Given the description of an element on the screen output the (x, y) to click on. 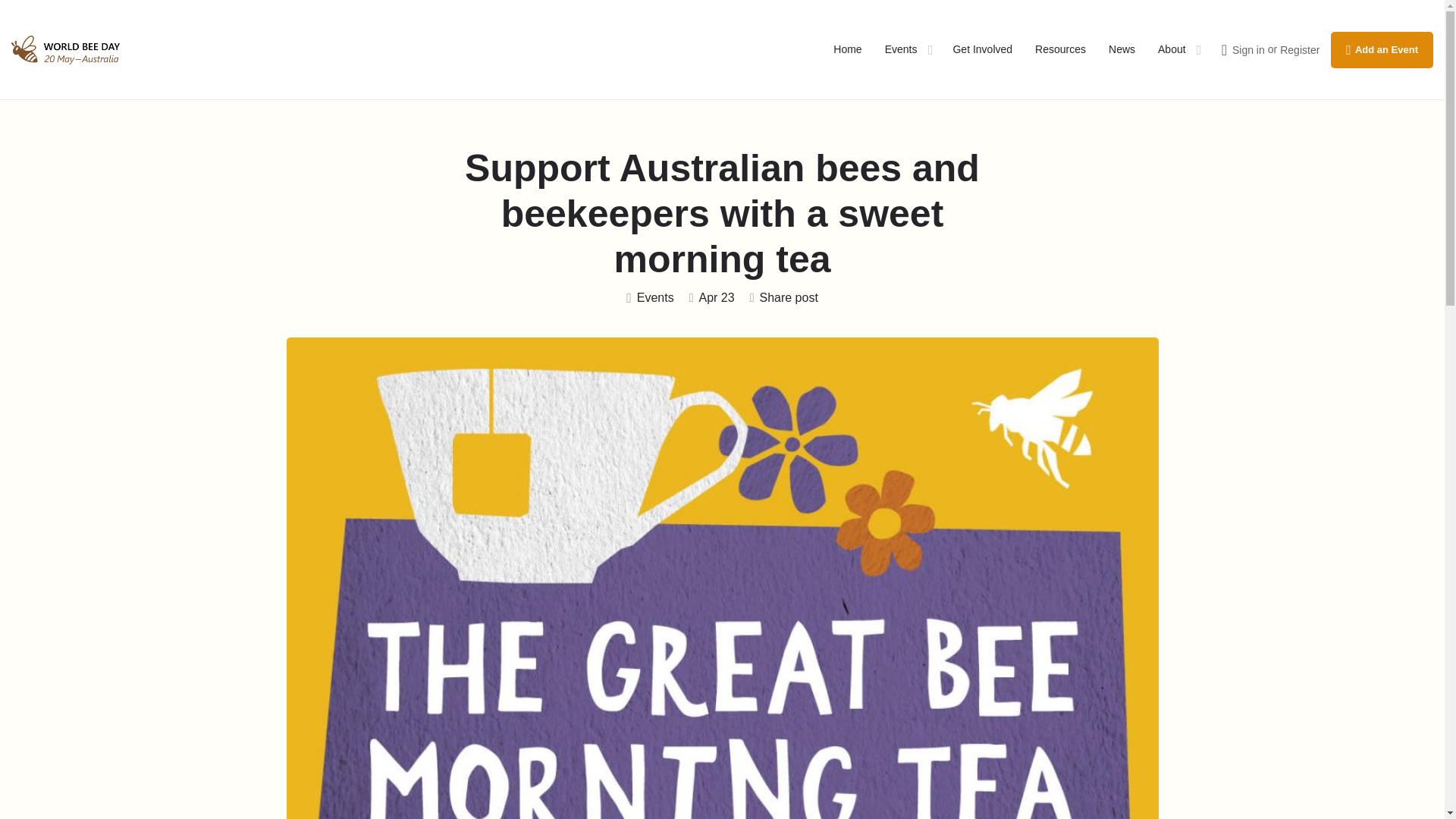
Events (901, 49)
Register (1299, 49)
Get Involved (981, 49)
About (1171, 49)
Resources (1060, 49)
Events (650, 298)
Add an Event (1381, 49)
Sign in (1248, 49)
Share post (783, 298)
Home (846, 49)
